Given the description of an element on the screen output the (x, y) to click on. 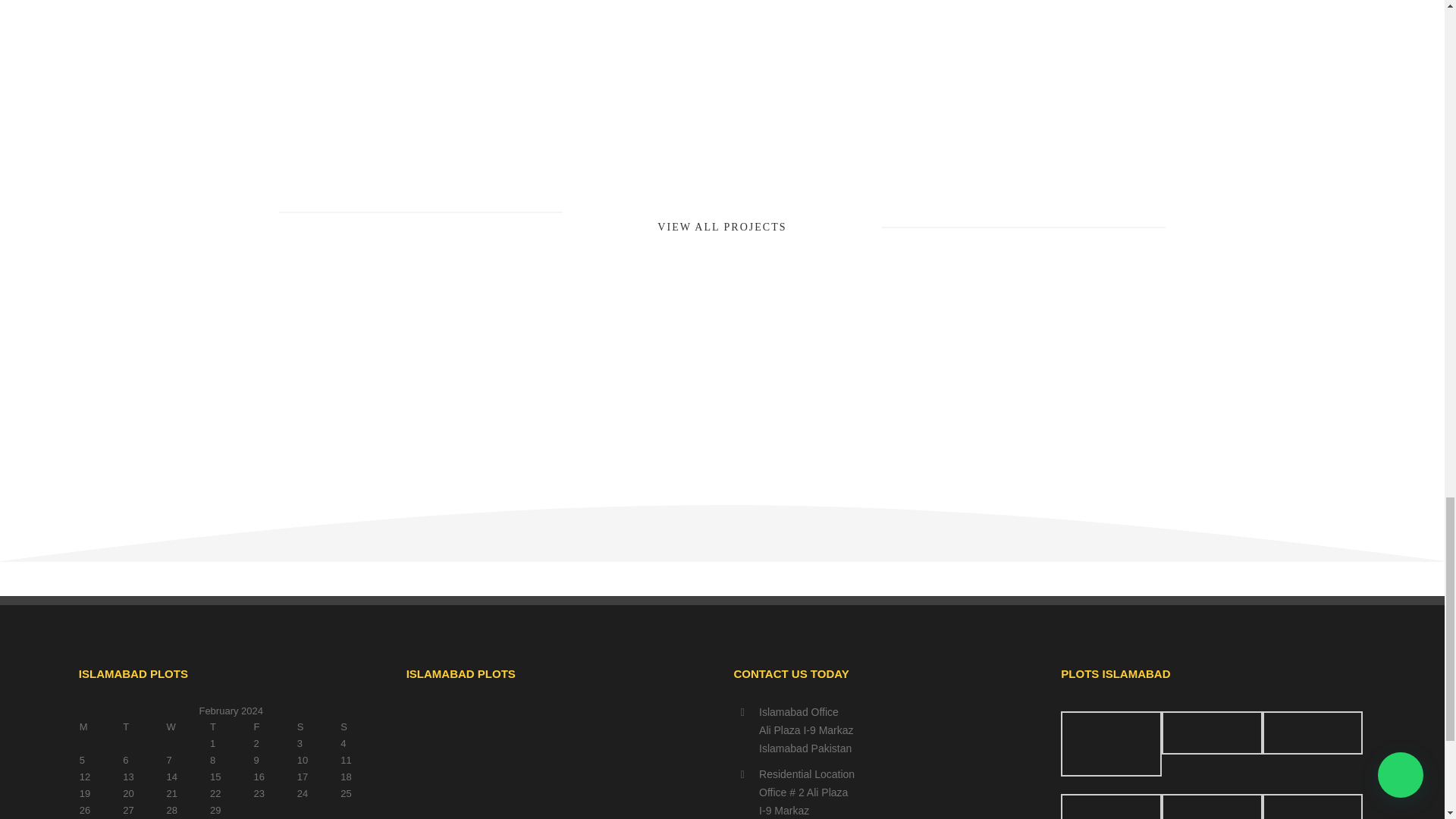
Wednesday (187, 727)
Sunday (360, 727)
Thursday (230, 727)
Tuesday (143, 727)
Friday (273, 727)
Saturday (318, 727)
Monday (100, 727)
